Given the description of an element on the screen output the (x, y) to click on. 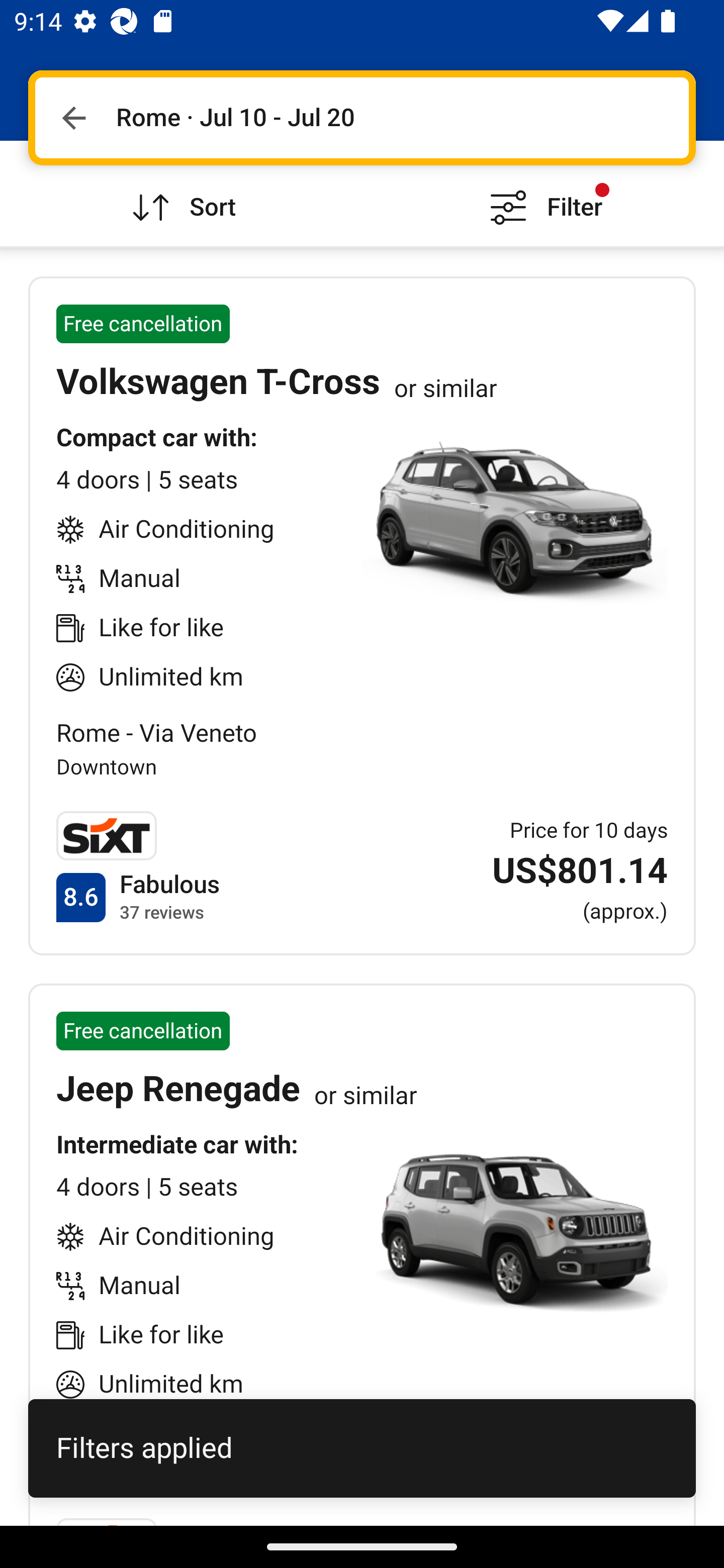
Back to previous screen (73, 117)
Sort (181, 193)
Filter (543, 193)
